Given the description of an element on the screen output the (x, y) to click on. 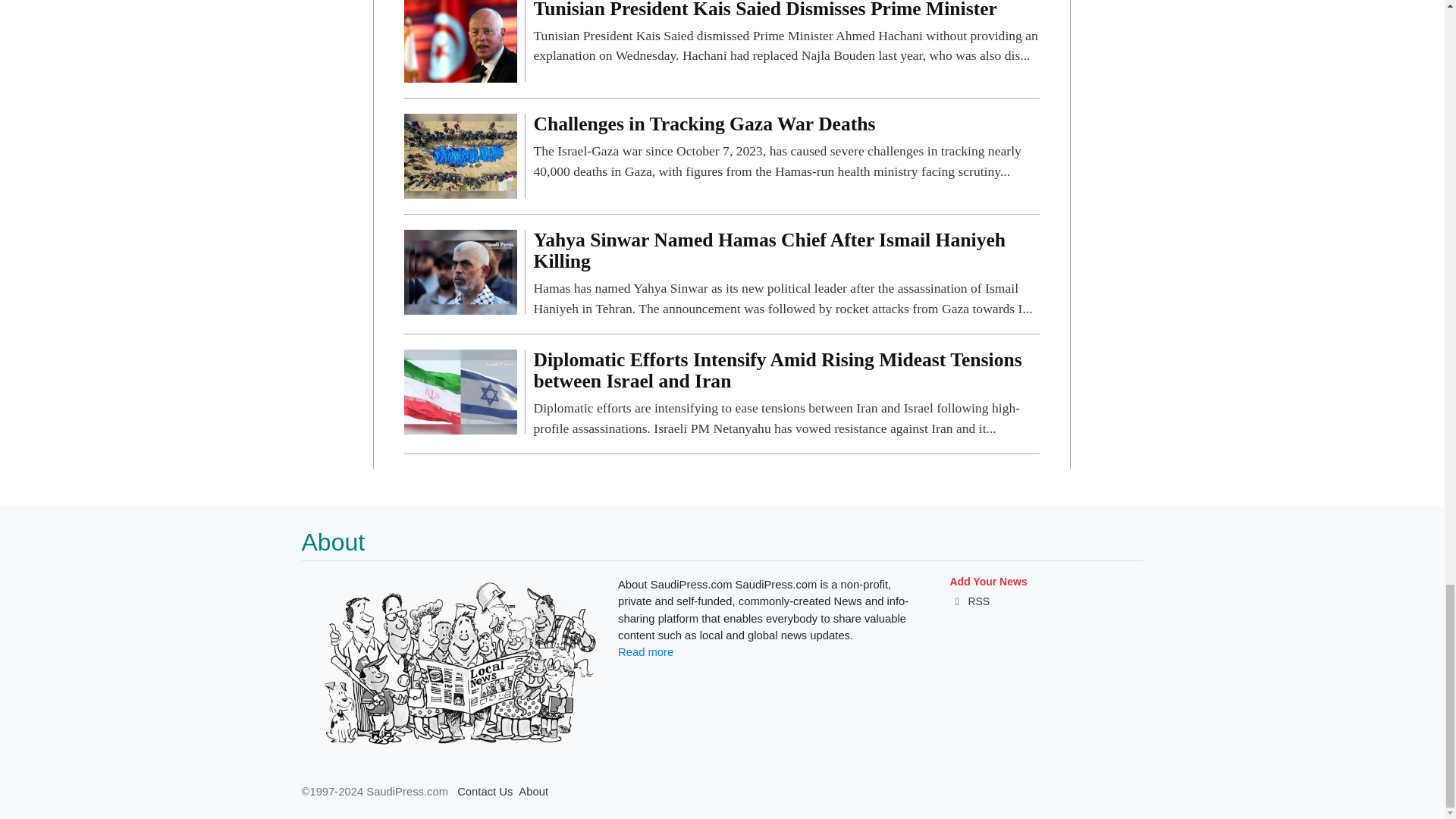
Tunisian President Kais Saied Dismisses Prime Minister (460, 39)
Tunisian President Kais Saied Dismisses Prime Minister (785, 32)
Challenges in Tracking Gaza War Deaths (785, 146)
Challenges in Tracking Gaza War Deaths (460, 154)
